Given the description of an element on the screen output the (x, y) to click on. 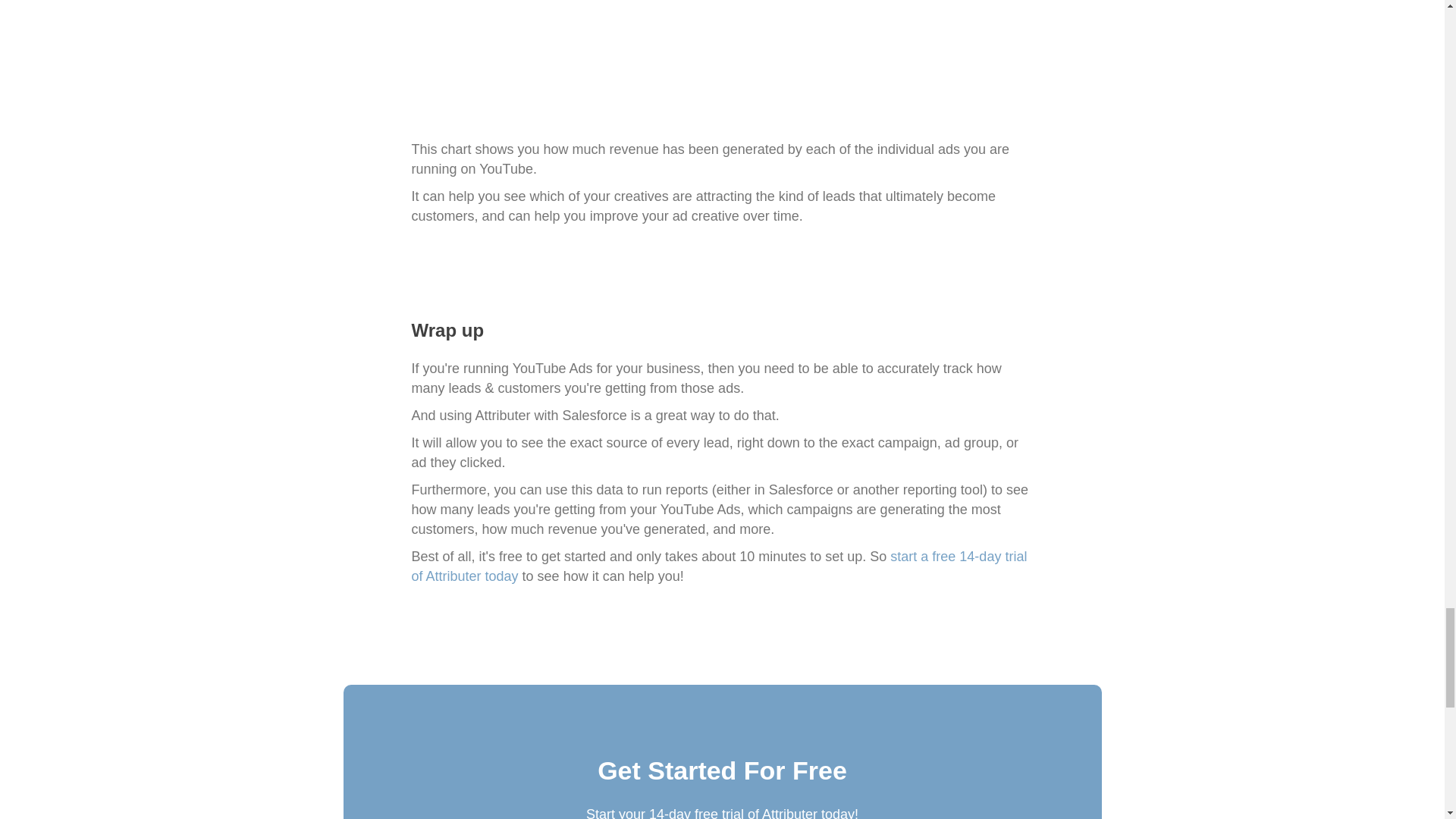
start a free 14-day trial of Attributer today (718, 565)
Revenue By YouTube Ad (721, 62)
